Given the description of an element on the screen output the (x, y) to click on. 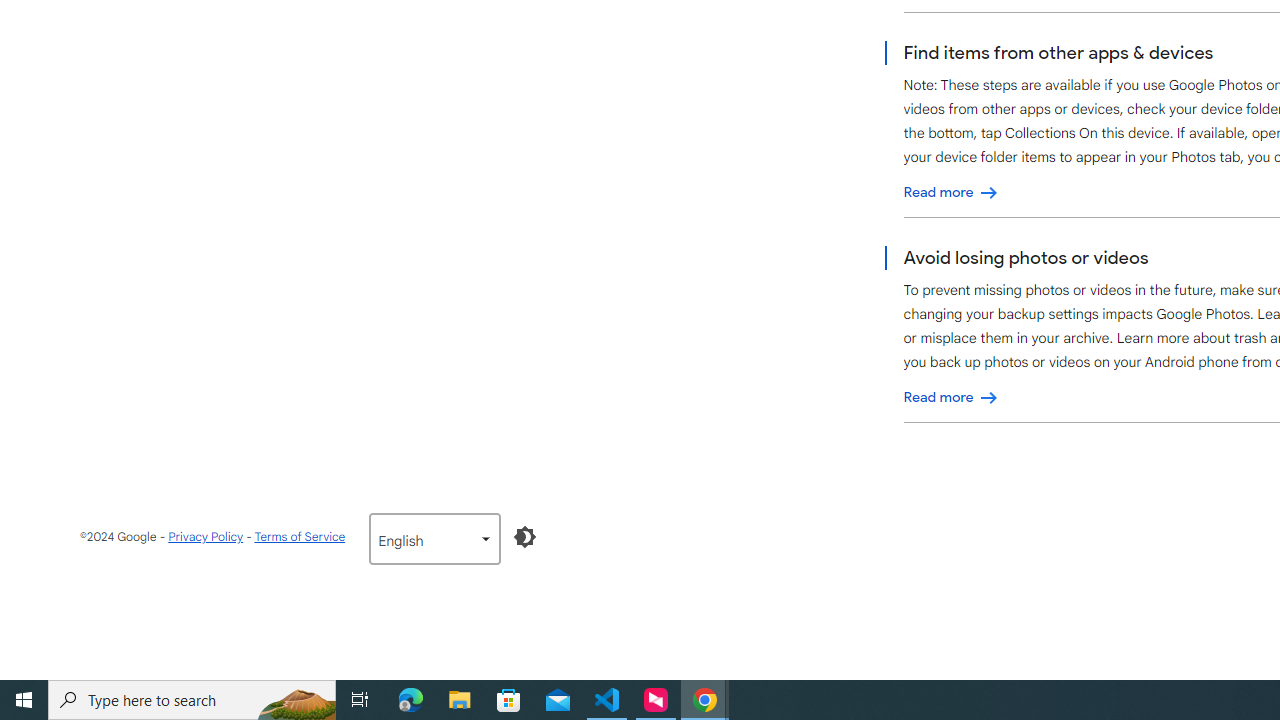
Find items from other apps & devices (951, 192)
Enable Dark Mode (525, 536)
Avoid losing photos or videos (951, 397)
